Given the description of an element on the screen output the (x, y) to click on. 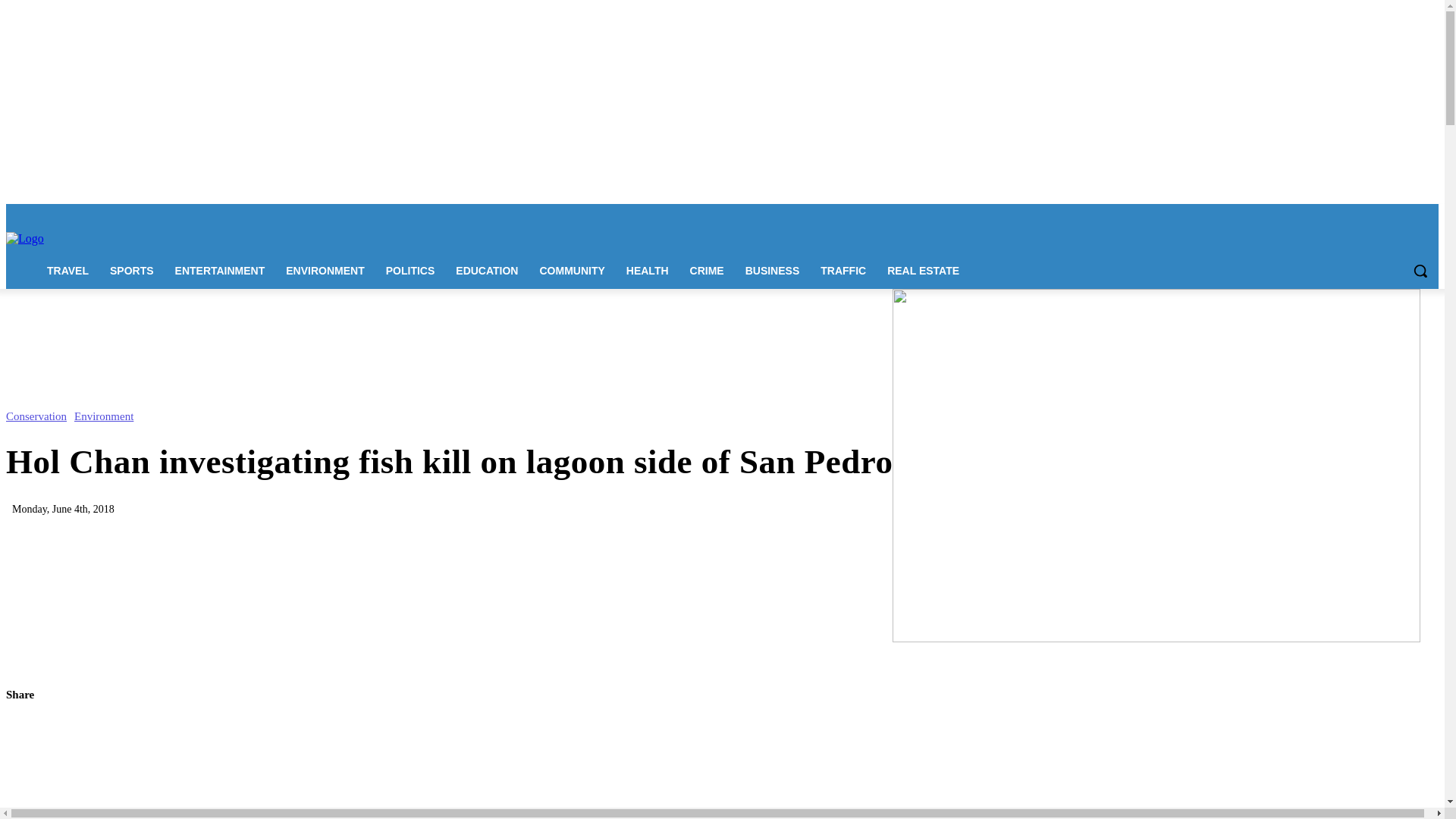
Archives (486, 214)
EDUCATION (486, 270)
About Us (167, 214)
Youtube (1429, 214)
Liquor Licenses (376, 214)
POLITICS (410, 270)
Linkedin (1366, 214)
COMMUNITY (571, 270)
TRAVEL (67, 270)
